Given the description of an element on the screen output the (x, y) to click on. 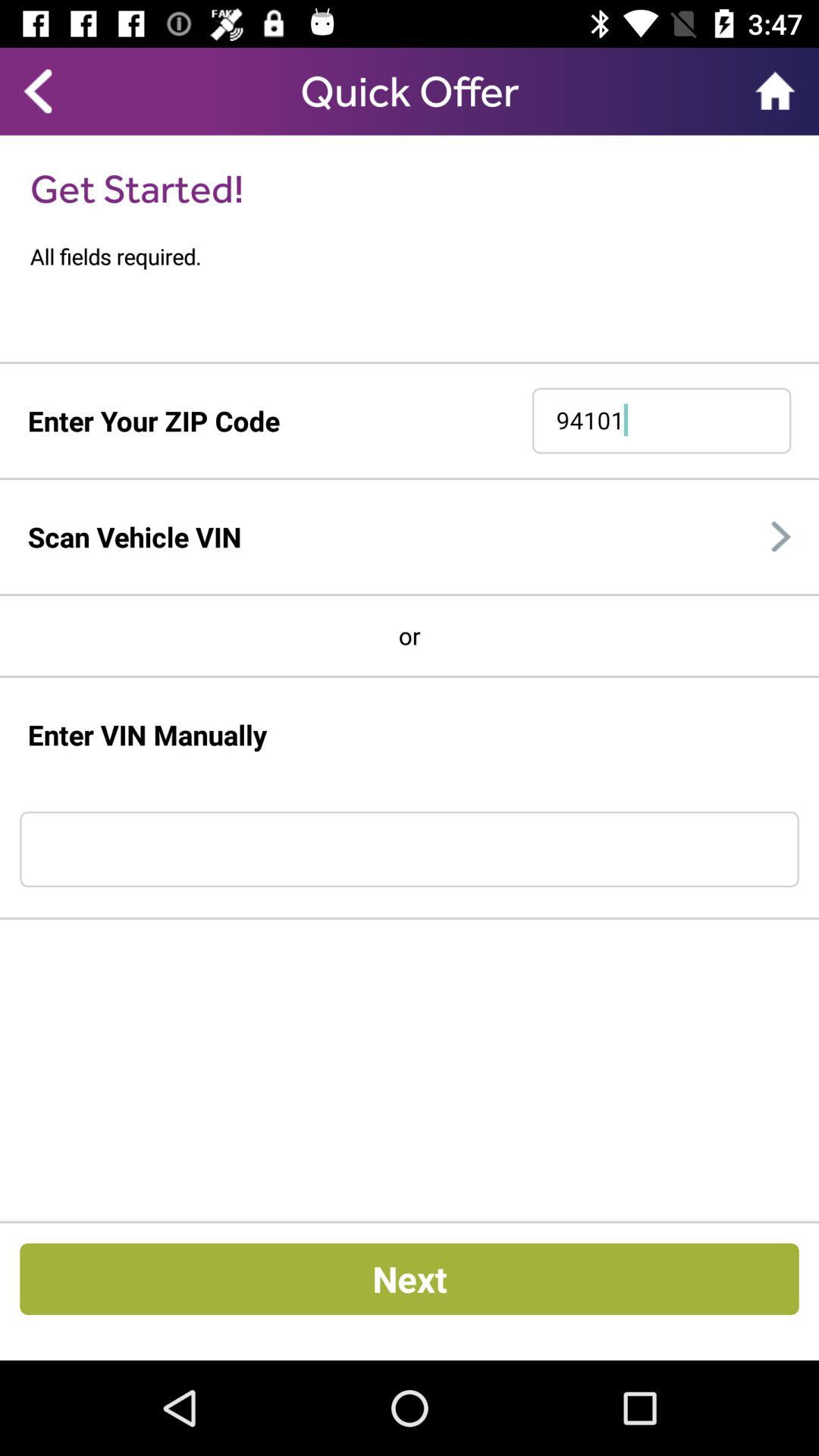
press icon above get started! icon (37, 91)
